Given the description of an element on the screen output the (x, y) to click on. 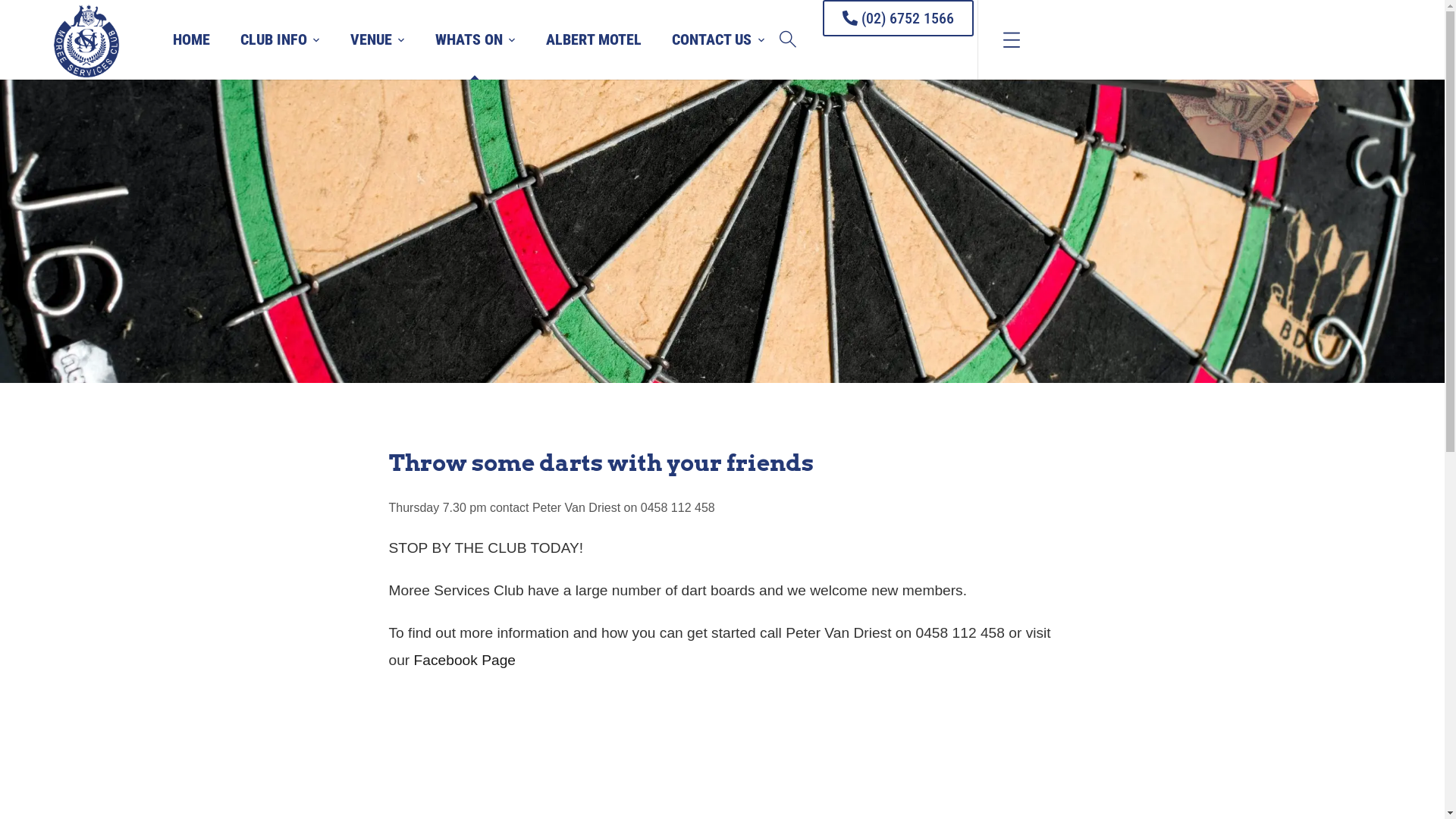
(02) 6752 1566 Element type: text (897, 18)
HOME Element type: text (191, 39)
VENUE Element type: text (377, 39)
WHATS ON Element type: text (475, 39)
Facebook Page  Element type: text (467, 660)
ALBERT MOTEL Element type: text (593, 39)
CONTACT US Element type: text (717, 39)
CLUB INFO Element type: text (280, 39)
